Given the description of an element on the screen output the (x, y) to click on. 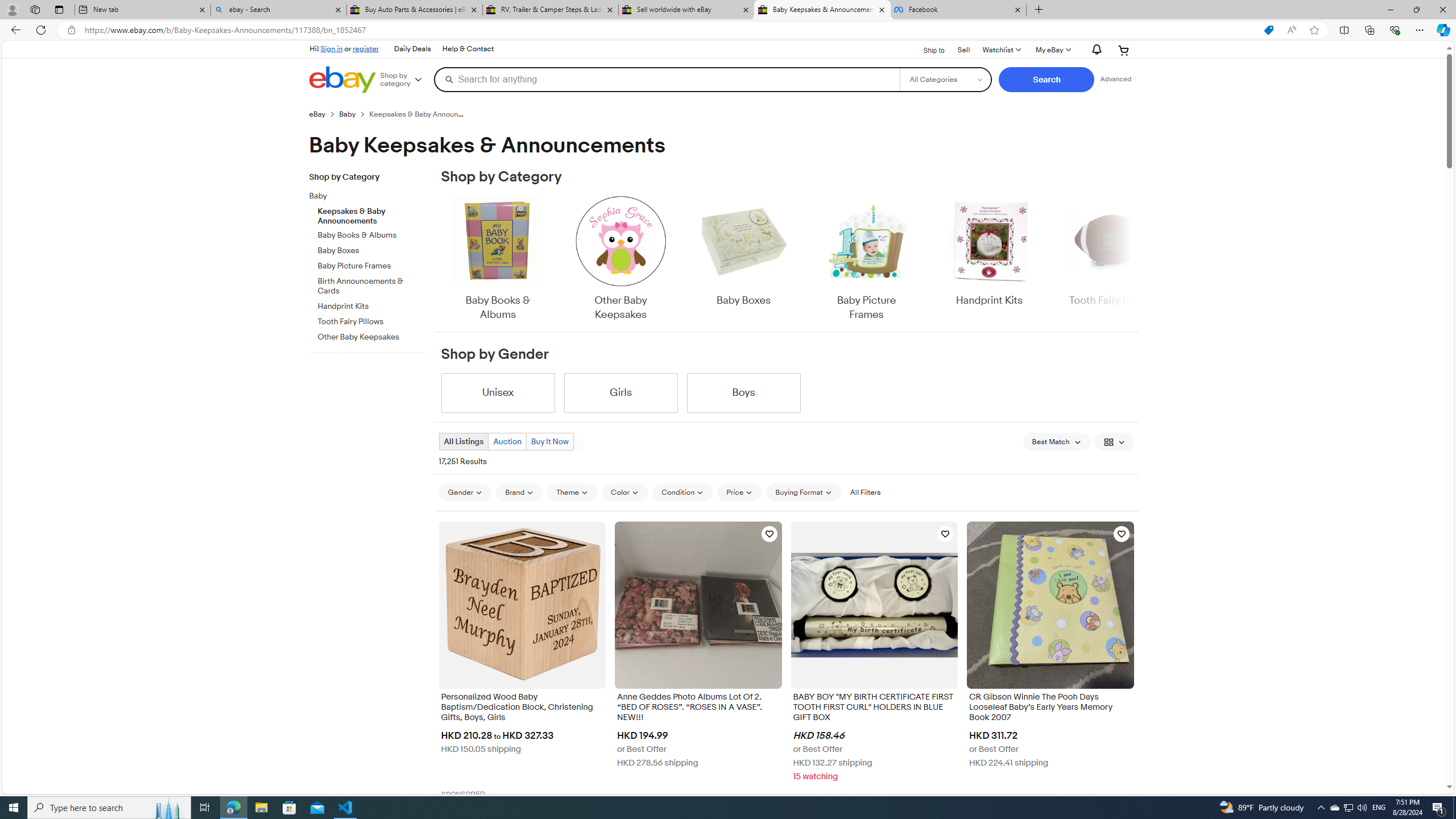
Daily Deals (411, 49)
Other Baby Keepsakes (620, 258)
Help & Contact (467, 49)
Boys (742, 392)
Theme (572, 492)
Ship to (926, 49)
AutomationID: gh-eb-Alerts (1094, 49)
Birth Announcements & Cards (371, 286)
My eBay (1052, 49)
Keepsakes & Baby Announcements (371, 214)
